Given the description of an element on the screen output the (x, y) to click on. 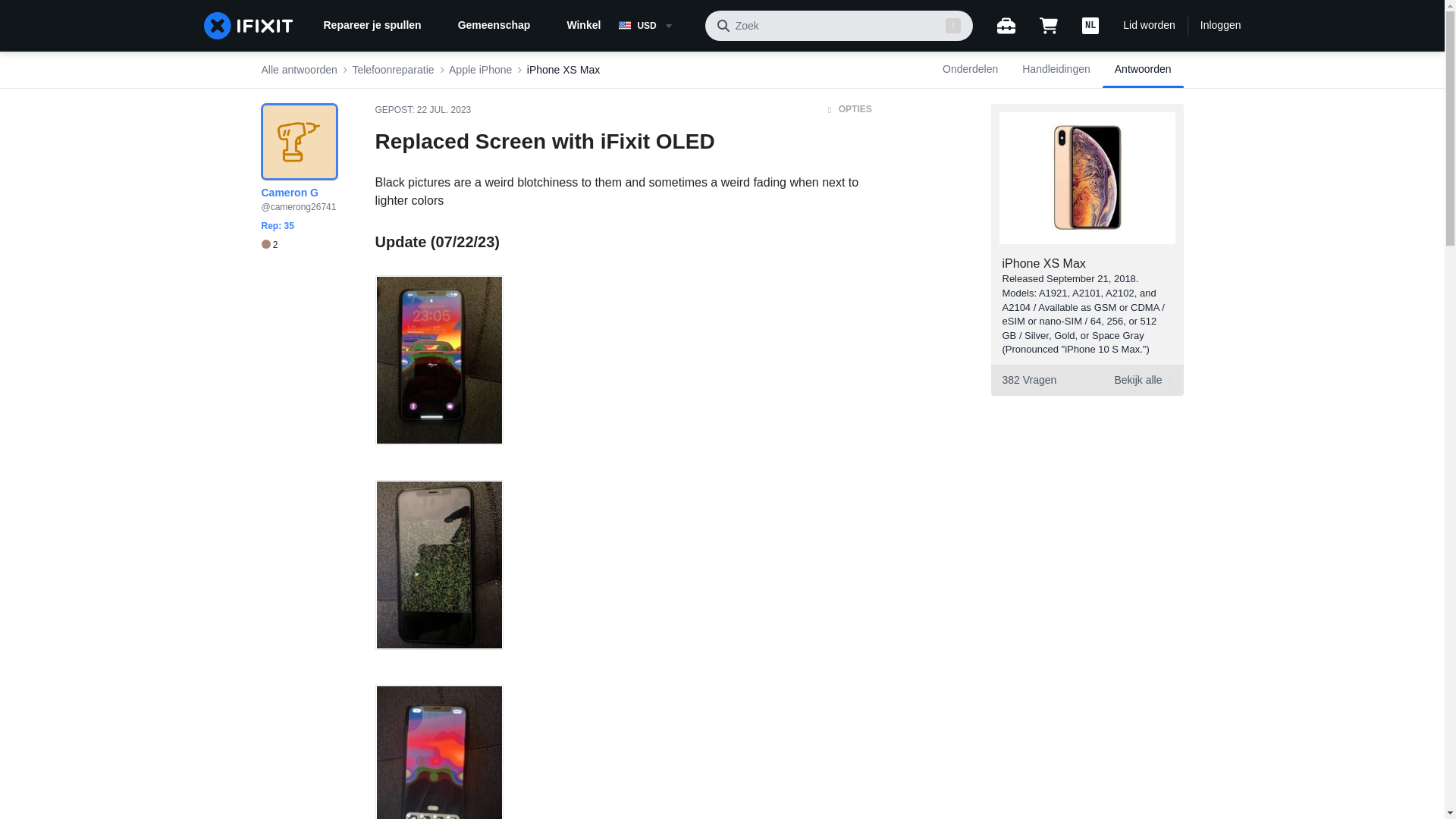
Alle antwoorden (298, 69)
Handleidingen (1056, 69)
GEPOST: 22 JUL. 2023 (422, 109)
2 Brons badges (269, 245)
iPhone XS Max (563, 69)
Inloggen (1220, 25)
Telefoonreparatie (392, 69)
Lid worden (1148, 25)
iPhone XS Max (1044, 263)
Apple iPhone (480, 69)
Onderdelen (970, 69)
USD (655, 25)
2 (1086, 379)
Antwoorden (269, 245)
